Given the description of an element on the screen output the (x, y) to click on. 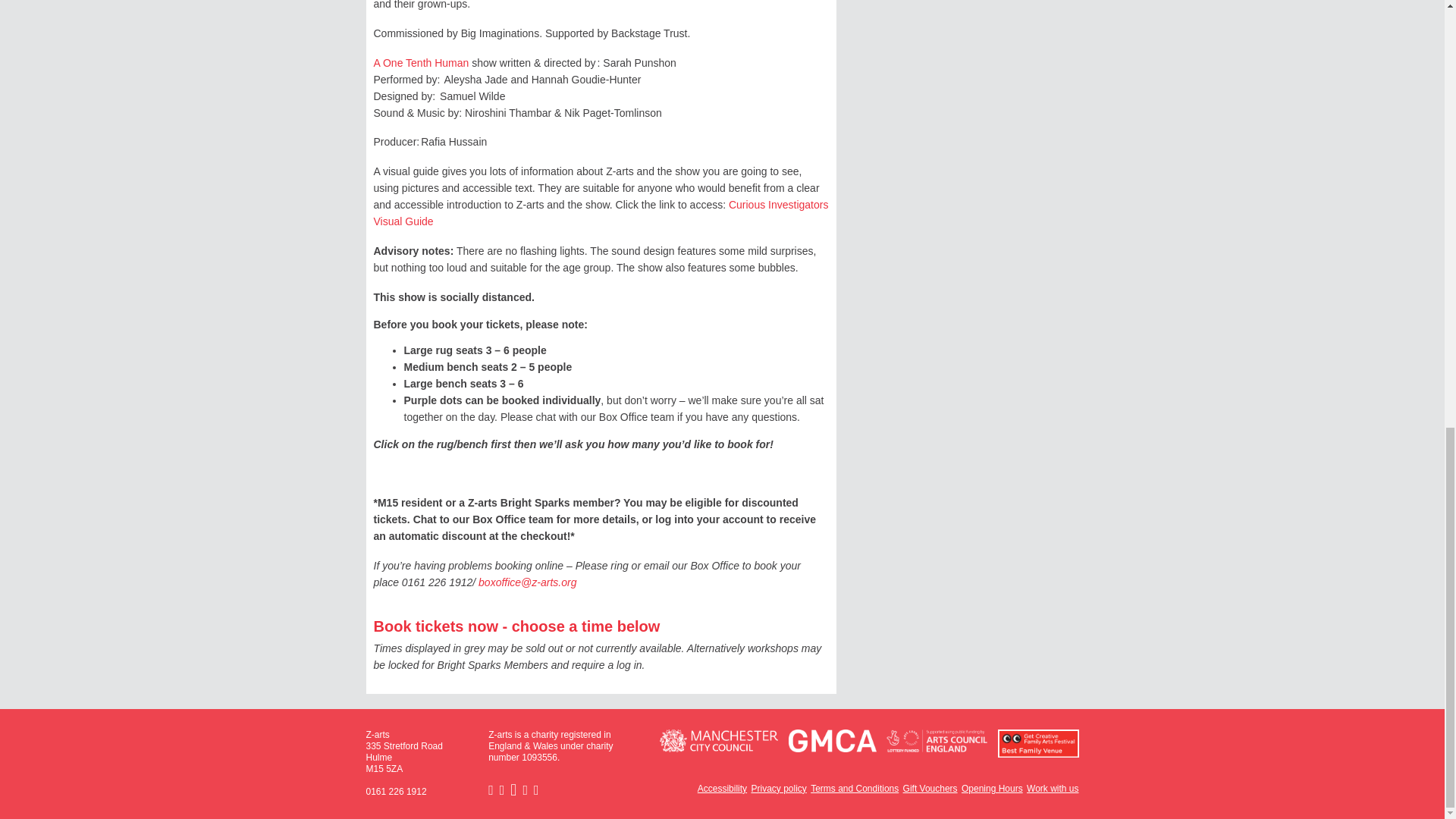
Curious Investigators Visual Guide (600, 213)
0161 226 1912 (395, 791)
A One Tenth Human (420, 62)
1093556 (539, 757)
